Given the description of an element on the screen output the (x, y) to click on. 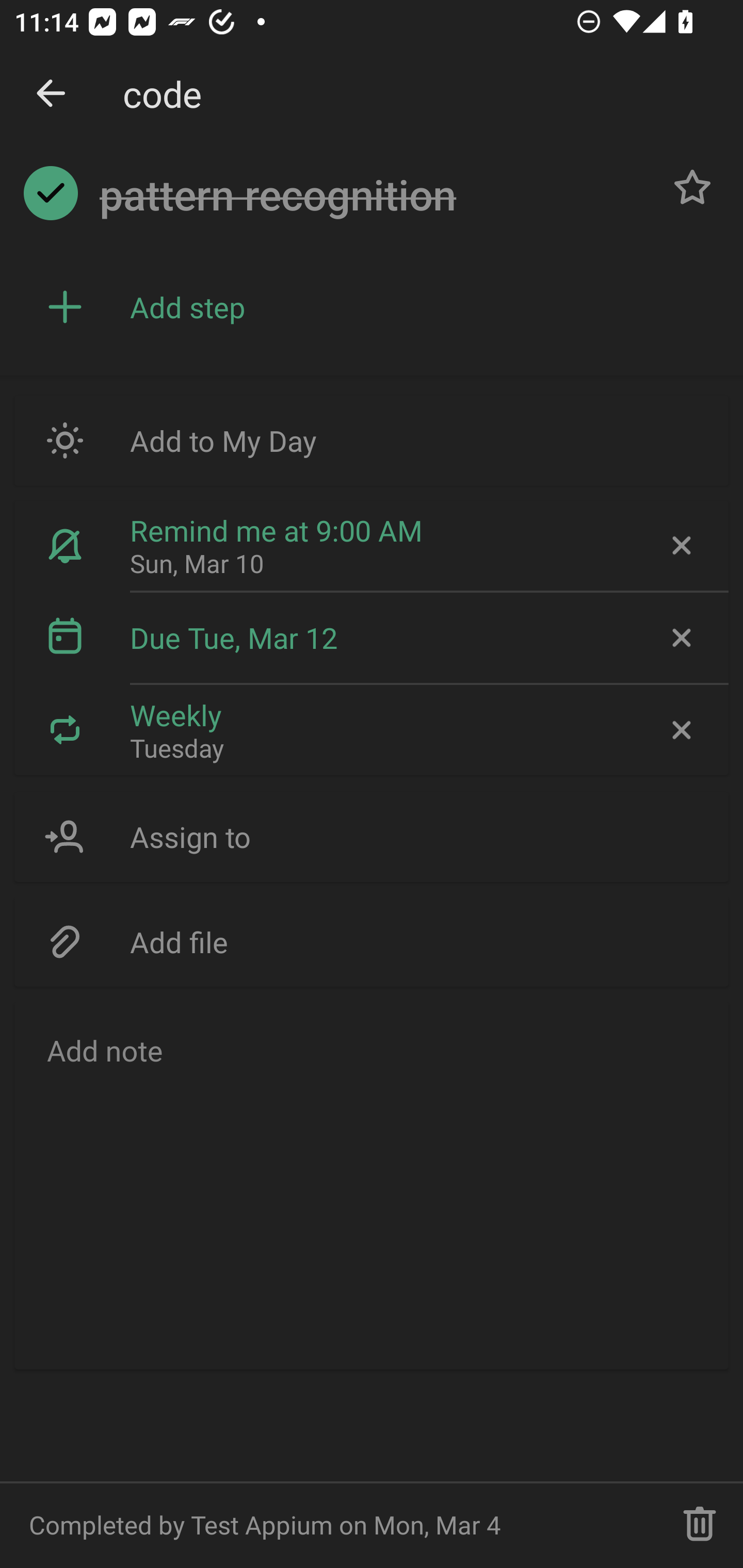
Dismiss detail view (50, 93)
Completed task pattern recognition, Button (50, 192)
pattern recognition (374, 195)
Normal task pattern recognition, Button (692, 187)
Add step (422, 307)
Add to My Day (371, 440)
Remind me at 9:00 AM Sun, Mar 10 Remove reminder (371, 545)
Remove reminder (679, 545)
Due Tue, Mar 12 Due Tue, Mar 12 Remove due date (371, 637)
Remove due date (679, 637)
Remove recurrence (679, 729)
Assign to (371, 836)
Add file (371, 941)
Add note, Button Email Renderer Add note (371, 1184)
Delete task (699, 1524)
